Given the description of an element on the screen output the (x, y) to click on. 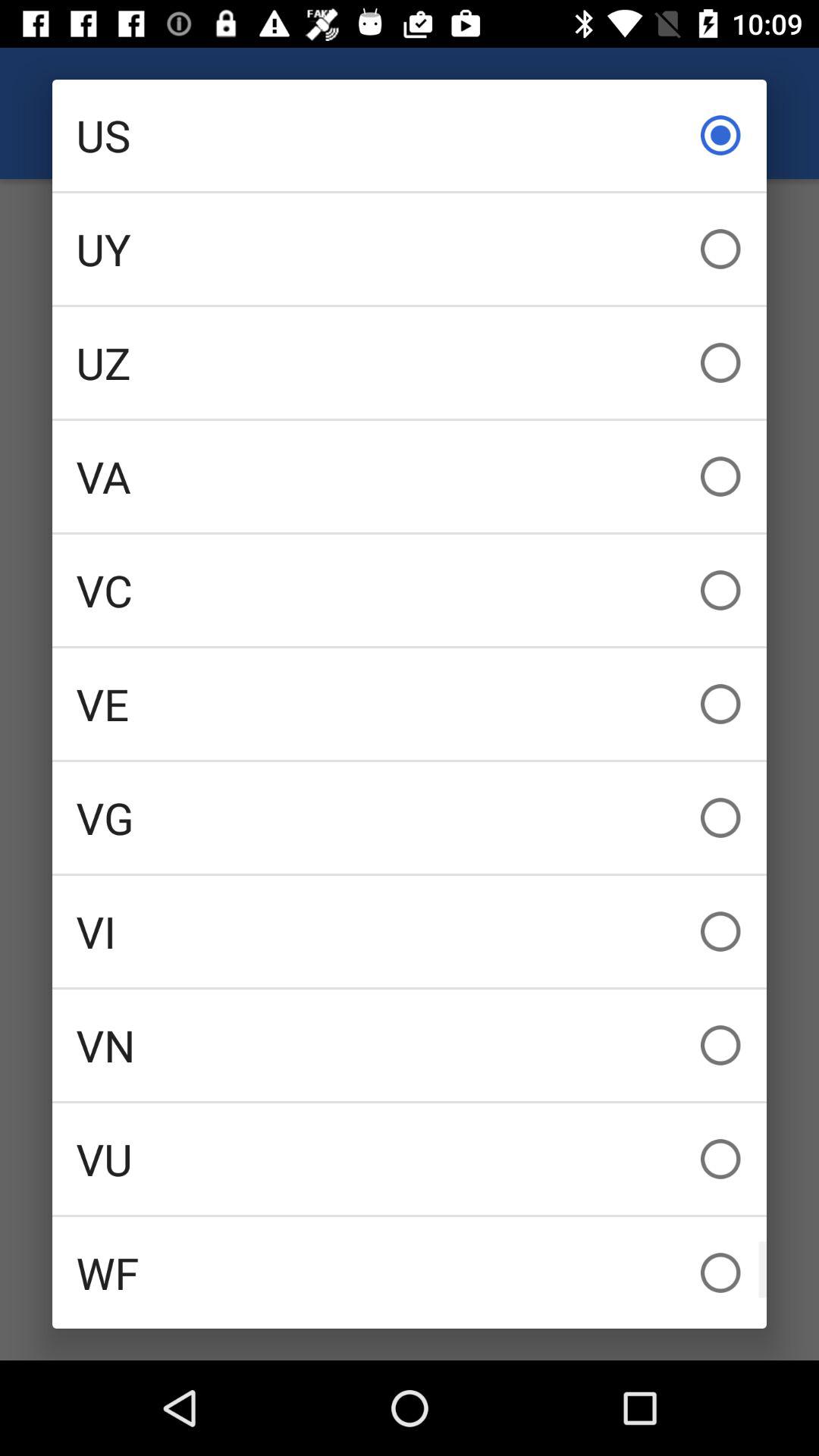
flip until the wf checkbox (409, 1272)
